Given the description of an element on the screen output the (x, y) to click on. 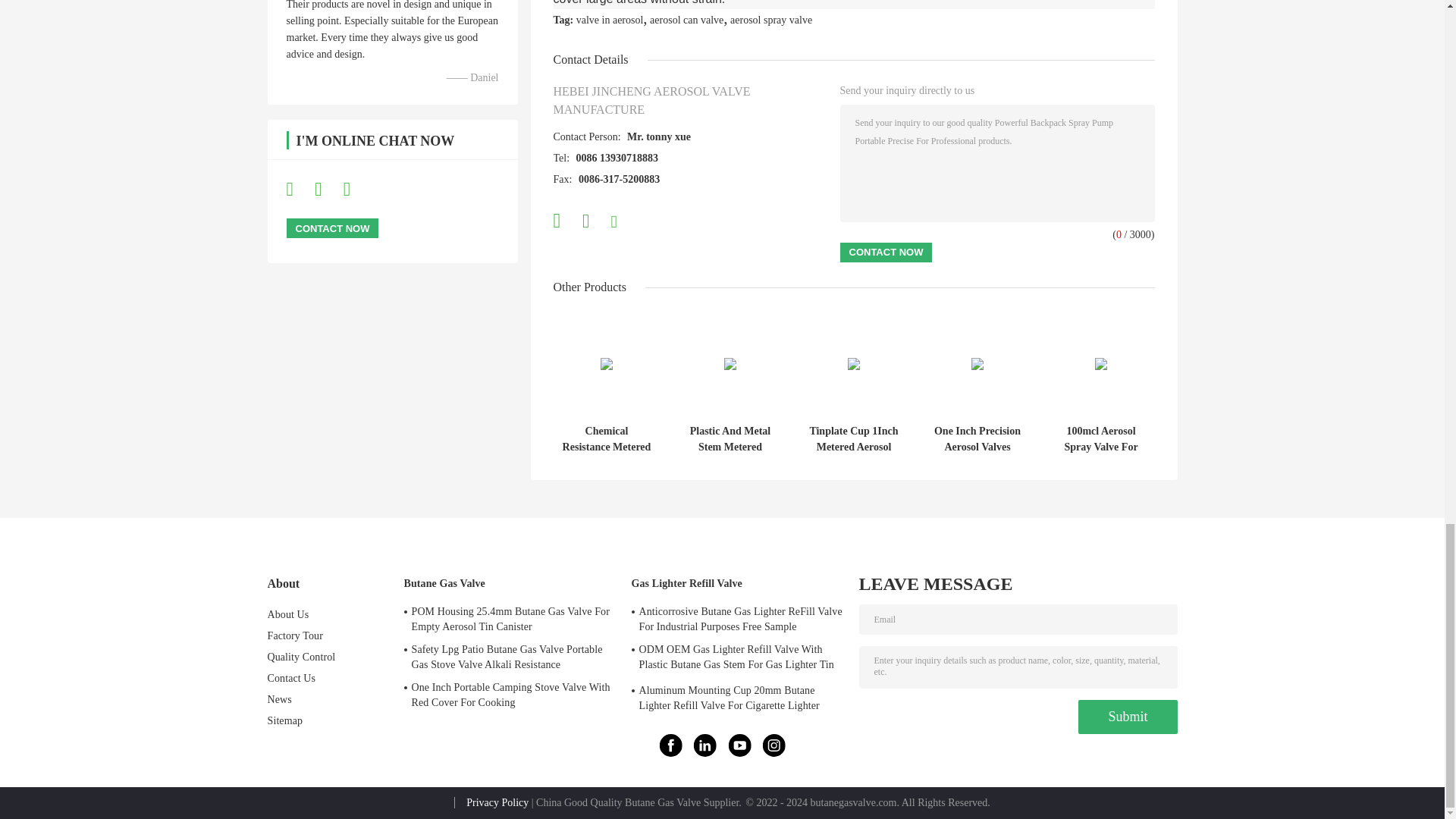
Contact Now (886, 252)
Submit (1127, 716)
Contact Now (332, 228)
